Given the description of an element on the screen output the (x, y) to click on. 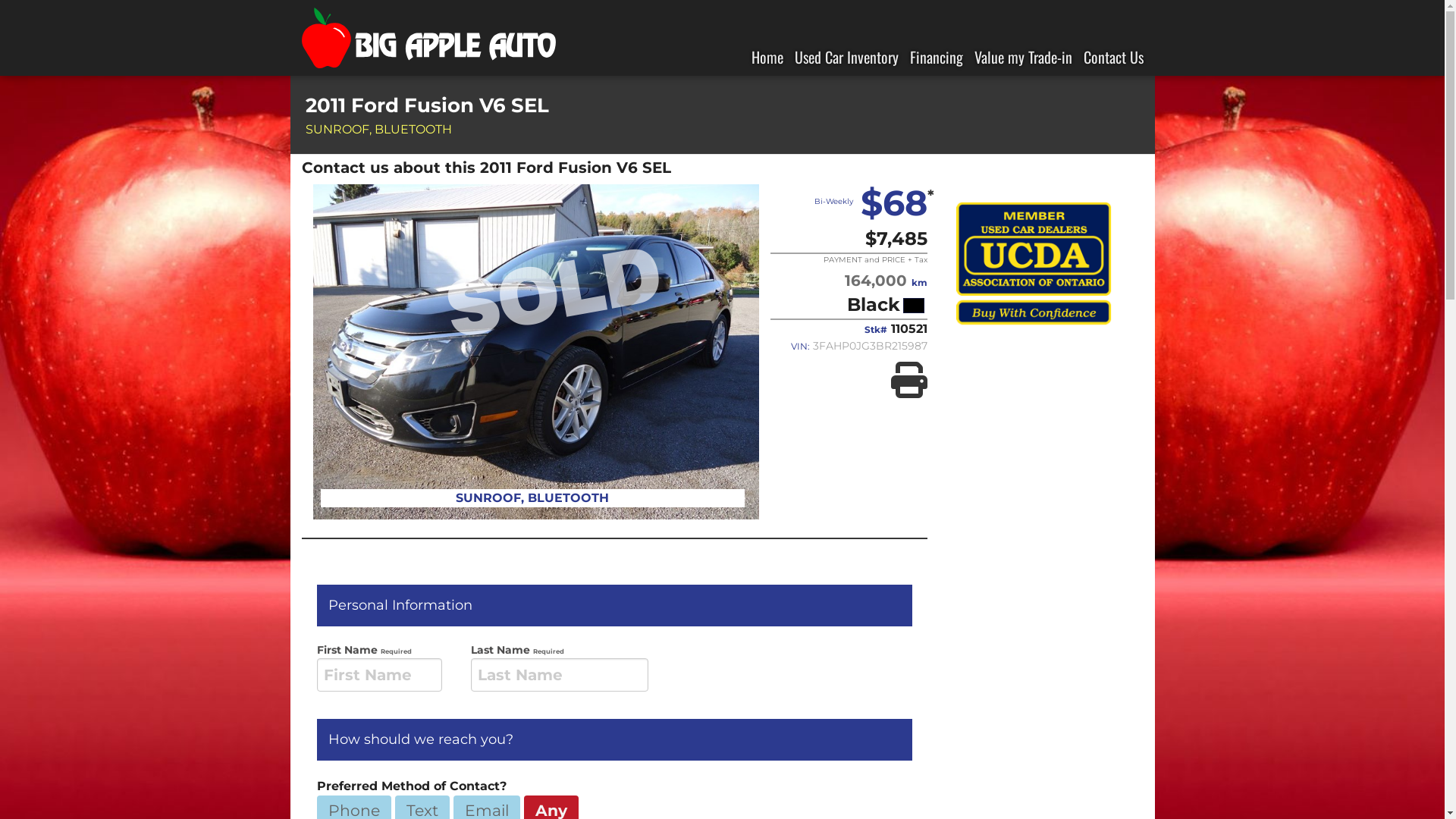
Financing Element type: text (936, 56)
  Element type: text (1, 9)
Unknown Element type: hover (912, 305)
Used Car Inventory Element type: text (846, 56)
Contact Us Element type: text (1112, 56)
Value my Trade-in Element type: text (1022, 56)
Home Element type: text (766, 56)
